Given the description of an element on the screen output the (x, y) to click on. 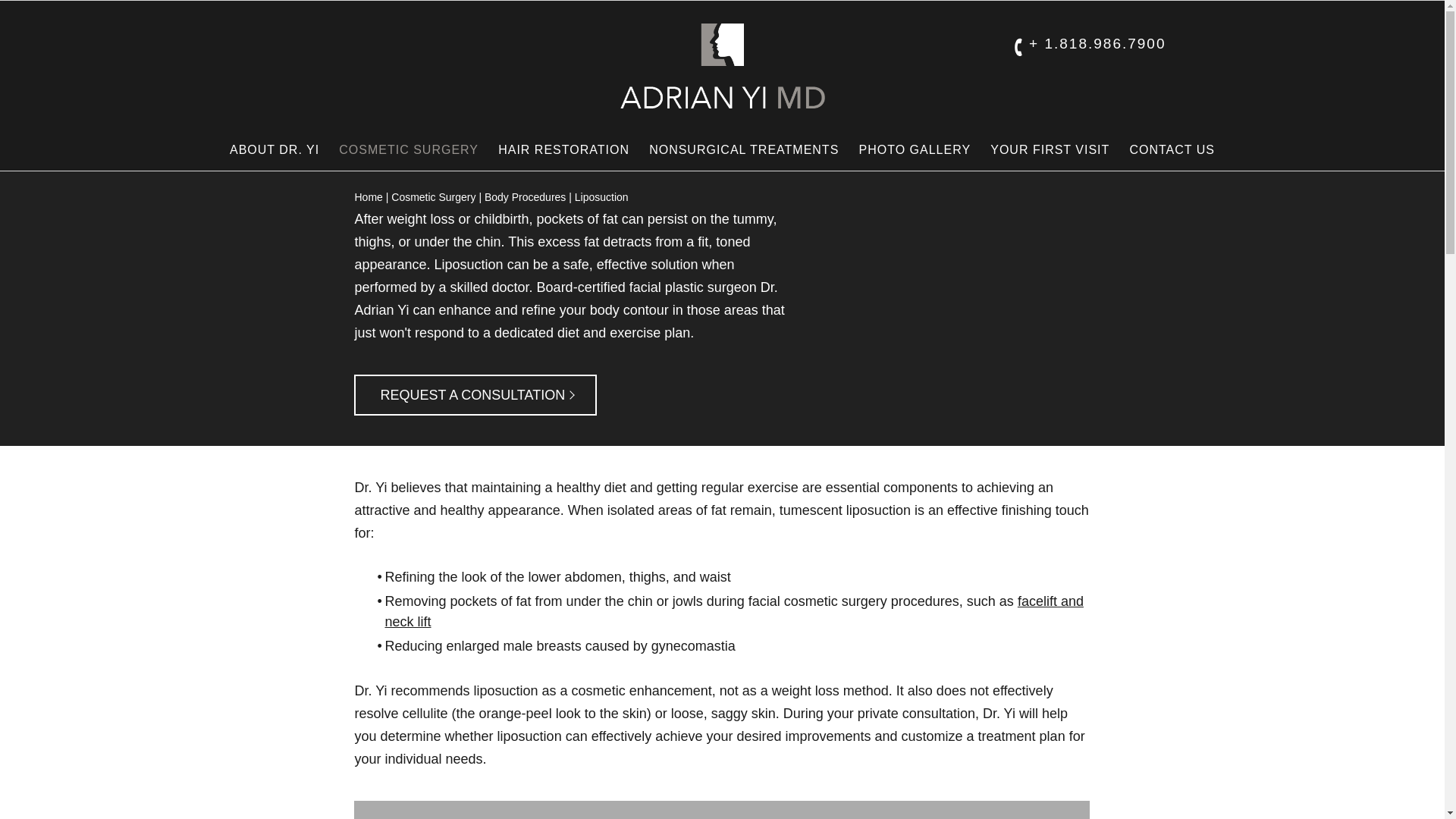
Cosmetic Surgery (274, 149)
Go to Adrian Yi, M.D.. (913, 149)
Go to Cosmetic Surgery. (433, 196)
Home (367, 196)
HAIR RESTORATION (433, 196)
